Given the description of an element on the screen output the (x, y) to click on. 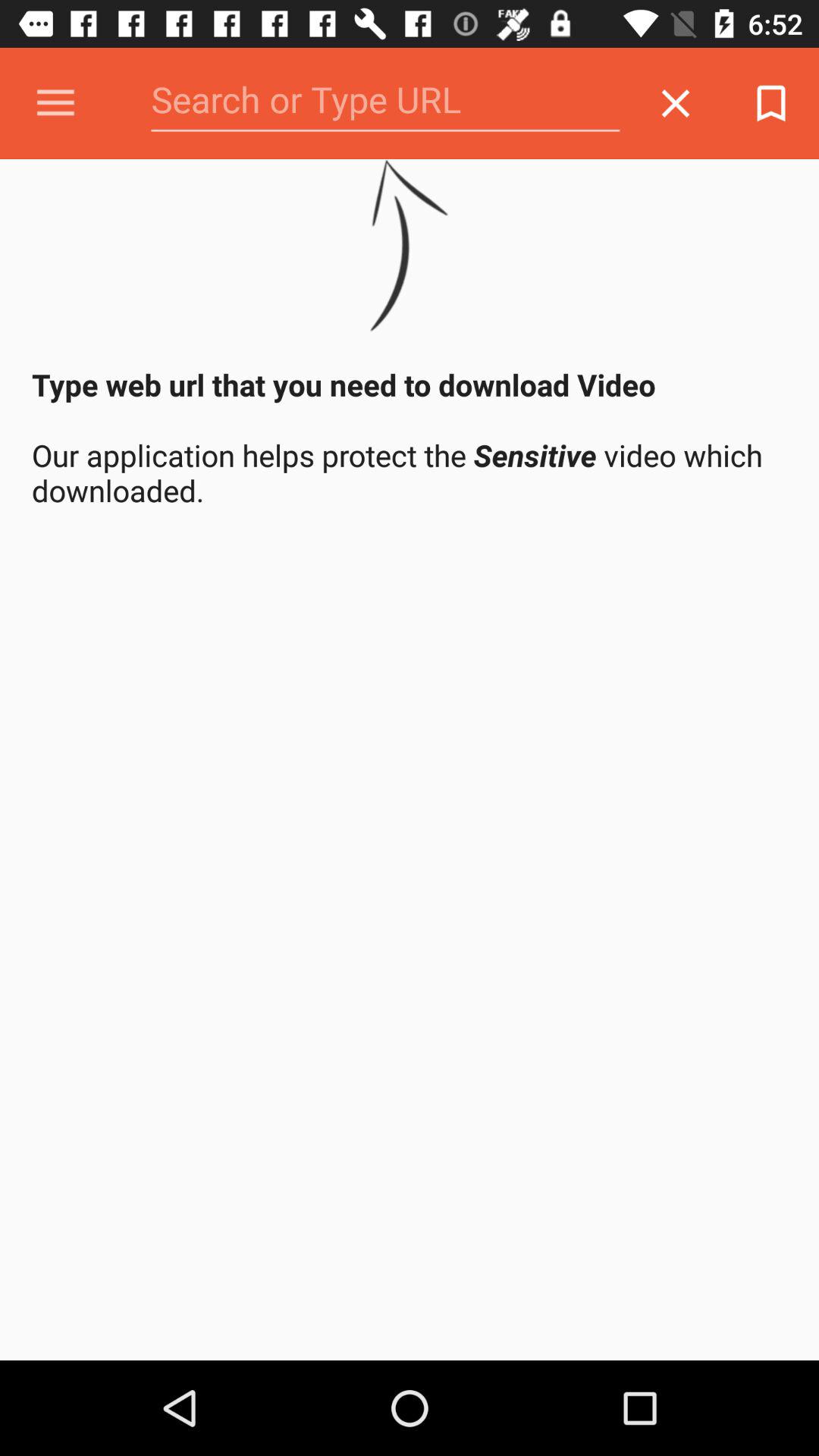
search url (385, 103)
